Given the description of an element on the screen output the (x, y) to click on. 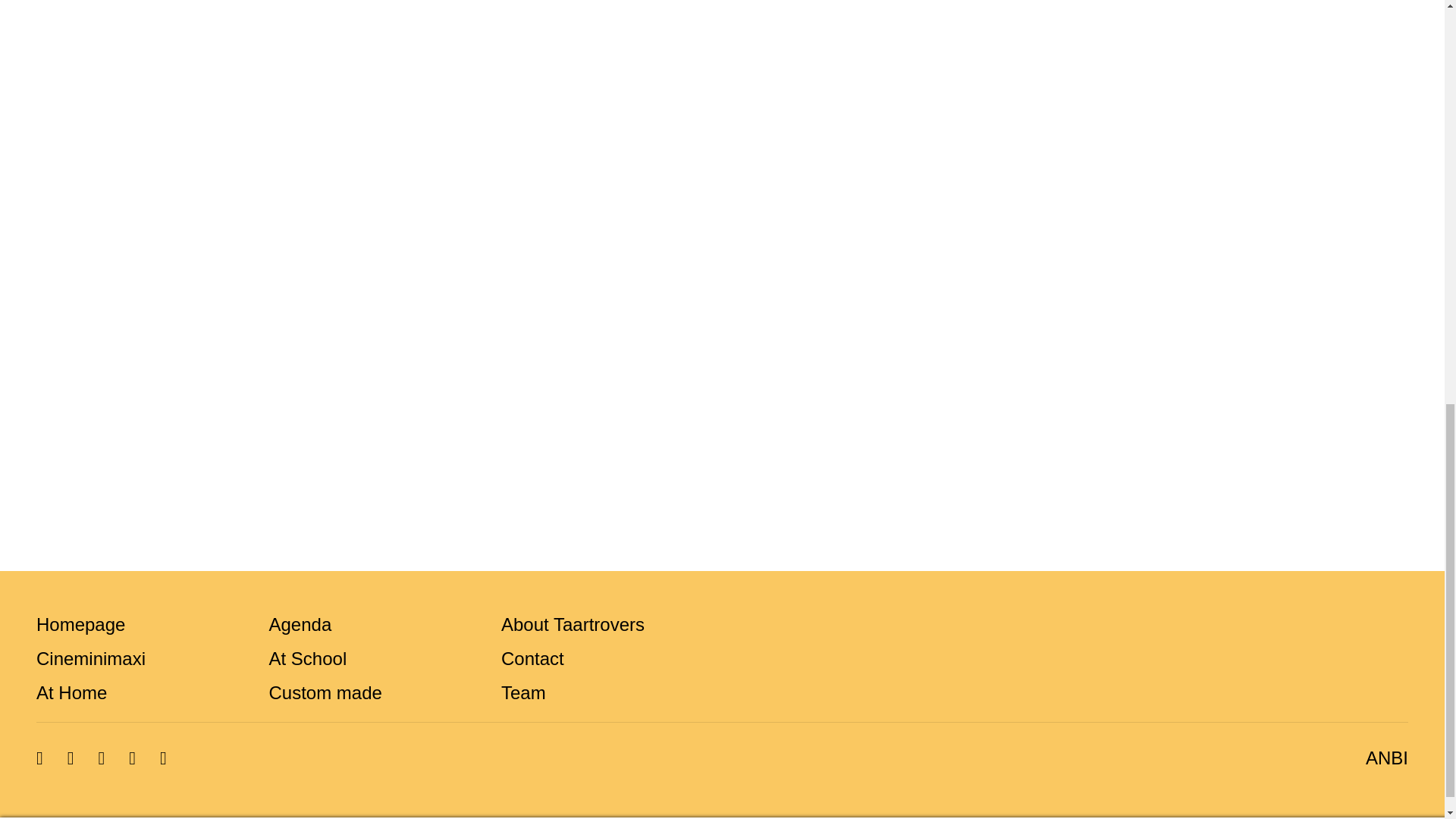
At Home (71, 692)
ANBI (1380, 757)
Agenda (299, 624)
Contact (532, 658)
At School (306, 658)
Homepage (80, 624)
Team (523, 692)
Custom made (324, 692)
About Taartrovers (572, 624)
Cineminimaxi (90, 658)
